Given the description of an element on the screen output the (x, y) to click on. 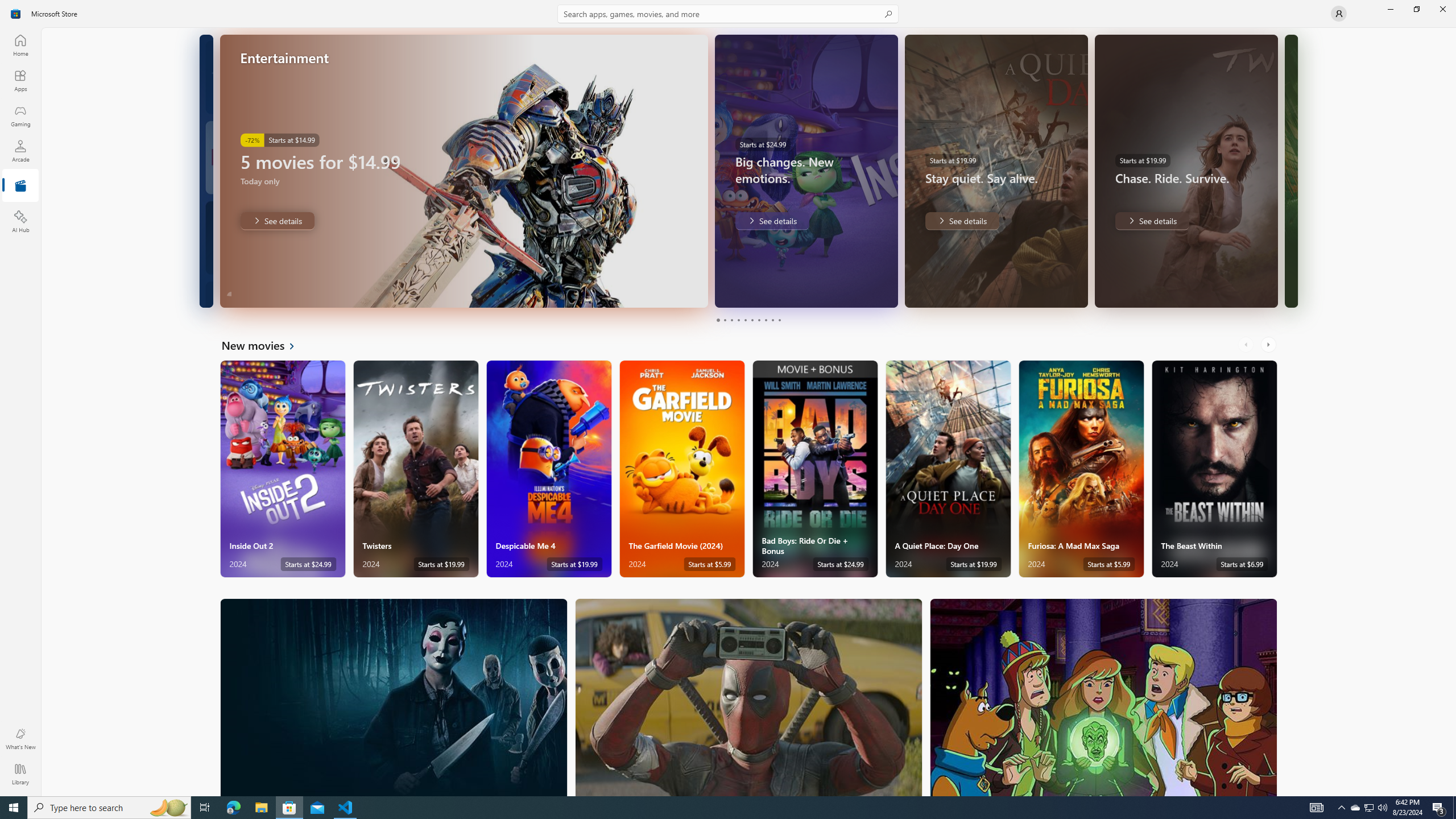
AutomationID: PosterImage (1103, 697)
Class: Image (15, 13)
Family (1102, 697)
User profile (1338, 13)
The Garfield Movie (2024). Starts at $5.99   (681, 469)
What's New (20, 738)
The Beast Within. Starts at $6.99   (1213, 469)
AutomationID: RightScrollButton (1269, 344)
Page 8 (764, 319)
Page 6 (751, 319)
Pager (748, 319)
Library (20, 773)
AI Hub (20, 221)
